Given the description of an element on the screen output the (x, y) to click on. 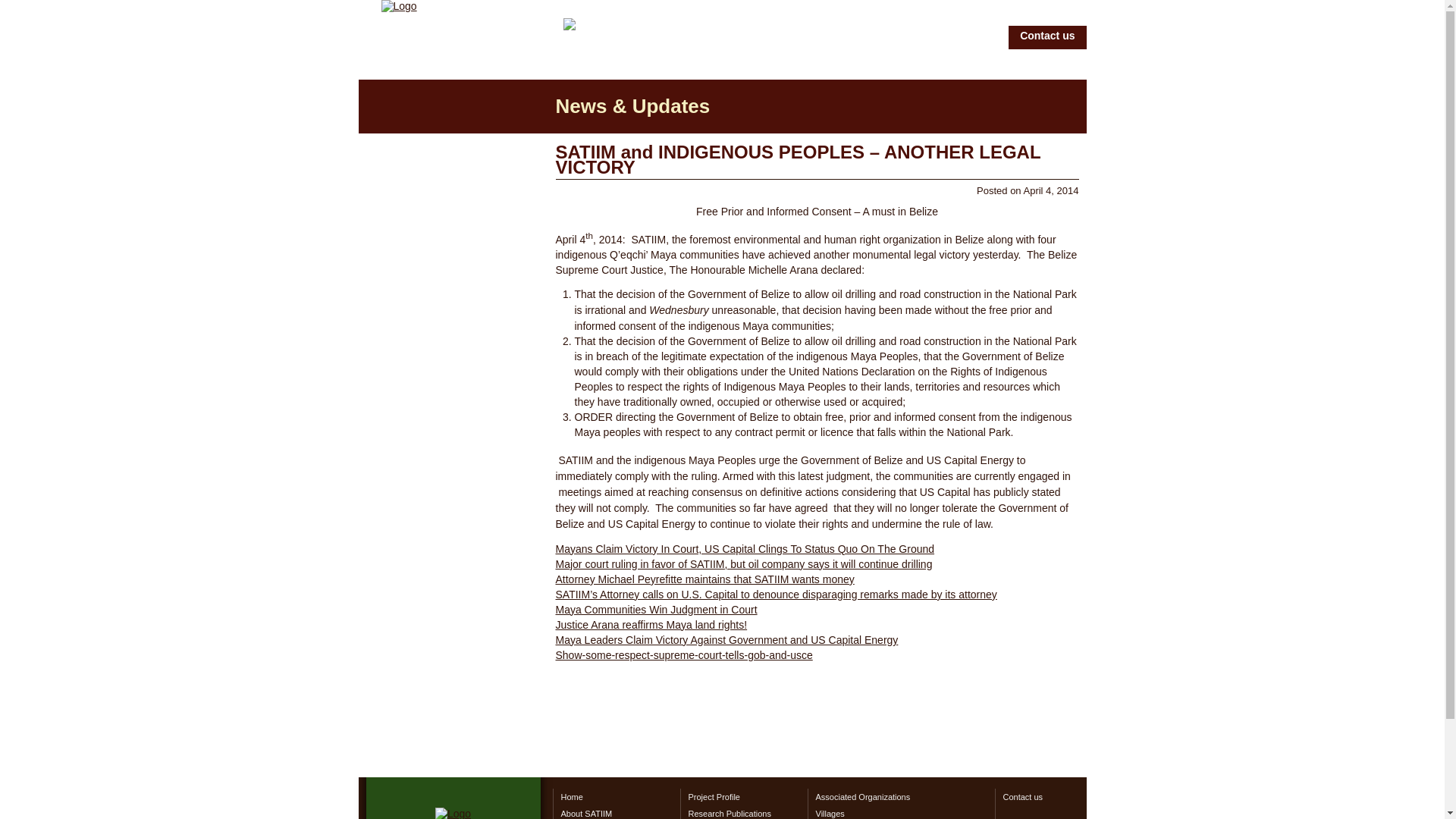
Contact us Element type: text (1043, 796)
Welcome to SATIIM Element type: hover (398, 6)
Project Profile Element type: text (743, 796)
Maya Communities Win Judgment in Court Element type: text (655, 609)
Associated Organizations Element type: text (900, 796)
Show-some-respect-supreme-court-tells-gob-and-usce Element type: text (683, 655)
NEWS & UPDATES Element type: text (452, 293)
Home Element type: text (616, 796)
ABOUT SATIIM Element type: text (452, 154)
ASSOCIATED ORGANIZATIONS Element type: text (452, 271)
PROGRAMS & CURRENT PROJECTS Element type: text (452, 181)
DONATE TO SATIIM Element type: text (452, 436)
STAFF & BOARD OF DIRECTORS Element type: text (452, 250)
PHOTO GALLERY Element type: text (452, 481)
Justice Arana reaffirms Maya land rights! Element type: text (650, 624)
RESEARCH PUBLICATIONS Element type: text (452, 229)
Contact us Element type: text (1046, 37)
PROJECT PROFILE Element type: text (452, 208)
VILLAGES Element type: text (452, 314)
